Given the description of an element on the screen output the (x, y) to click on. 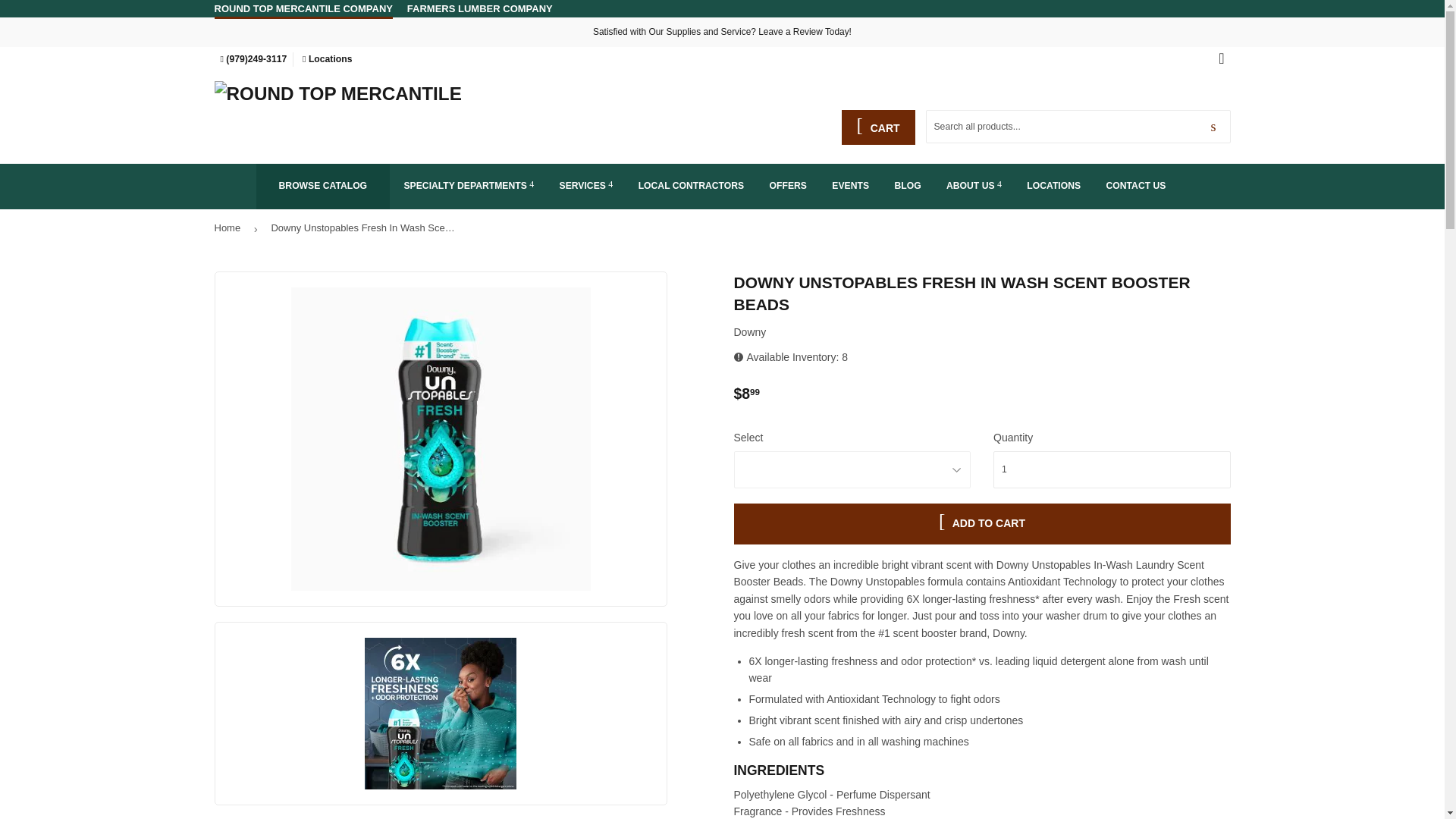
Farmers Lumber Company (480, 8)
CART (878, 127)
FARMERS LUMBER COMPANY (480, 8)
Round Top Mercantile Company (302, 9)
SEARCH (1213, 127)
1 (1111, 469)
 Locations (327, 59)
Open Product Zoom (441, 713)
Open Product Zoom (441, 438)
ROUND TOP MERCANTILE COMPANY (302, 9)
